Given the description of an element on the screen output the (x, y) to click on. 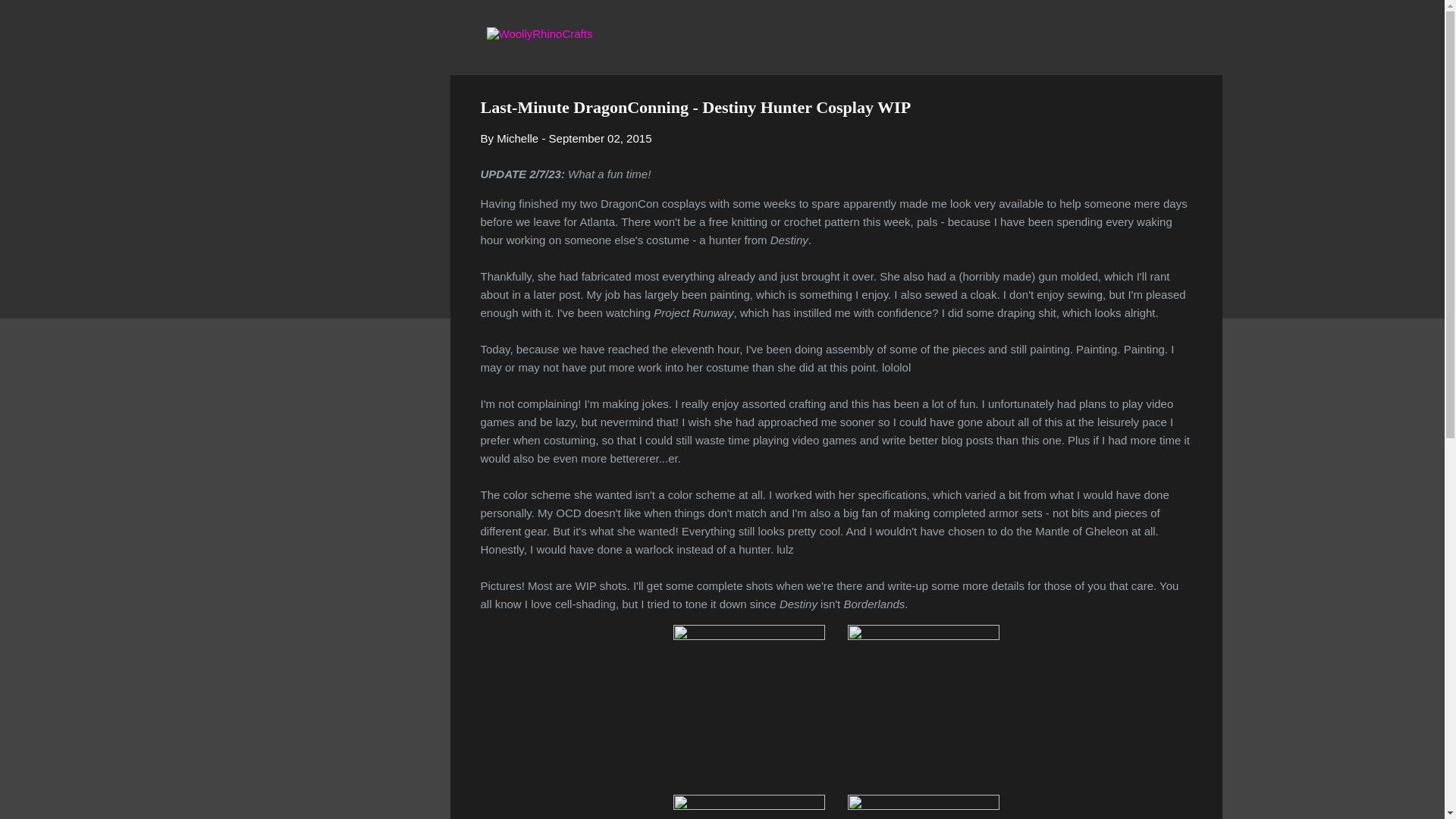
permanent link (600, 137)
September 02, 2015 (600, 137)
Search (29, 18)
